Given the description of an element on the screen output the (x, y) to click on. 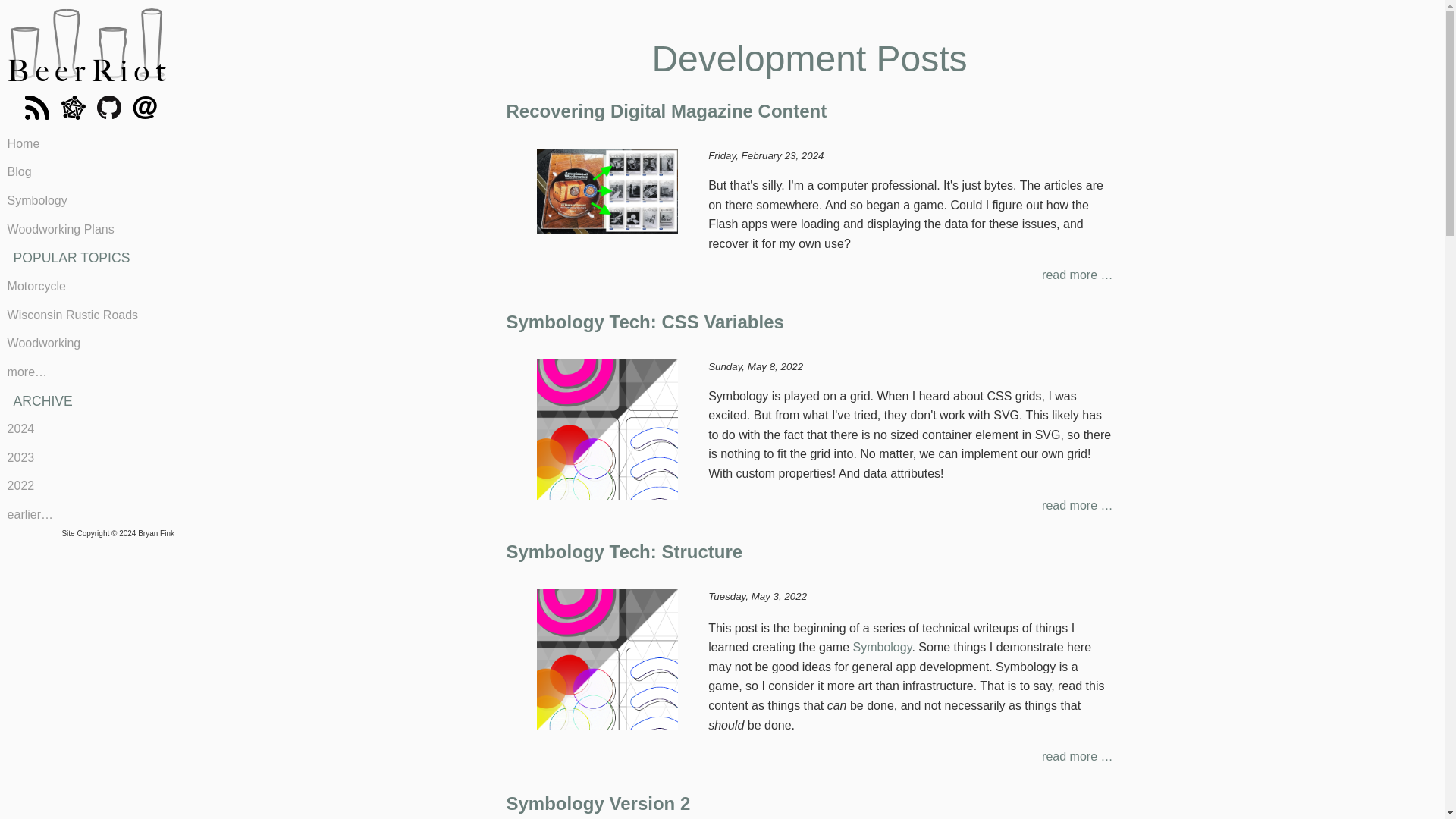
Symbology Tech: CSS Variables (645, 322)
Blog (87, 172)
Recovering Digital Magazine Content (666, 110)
Woodworking Plans (87, 229)
Motorcycle (87, 286)
Symbology Version 2 (598, 803)
Symbology (87, 200)
2024 (87, 429)
Home (87, 143)
Symbology (881, 646)
Symbology Tech: Structure (624, 551)
2023 (87, 457)
Woodworking (87, 344)
Wisconsin Rustic Roads (87, 315)
2022 (87, 486)
